Given the description of an element on the screen output the (x, y) to click on. 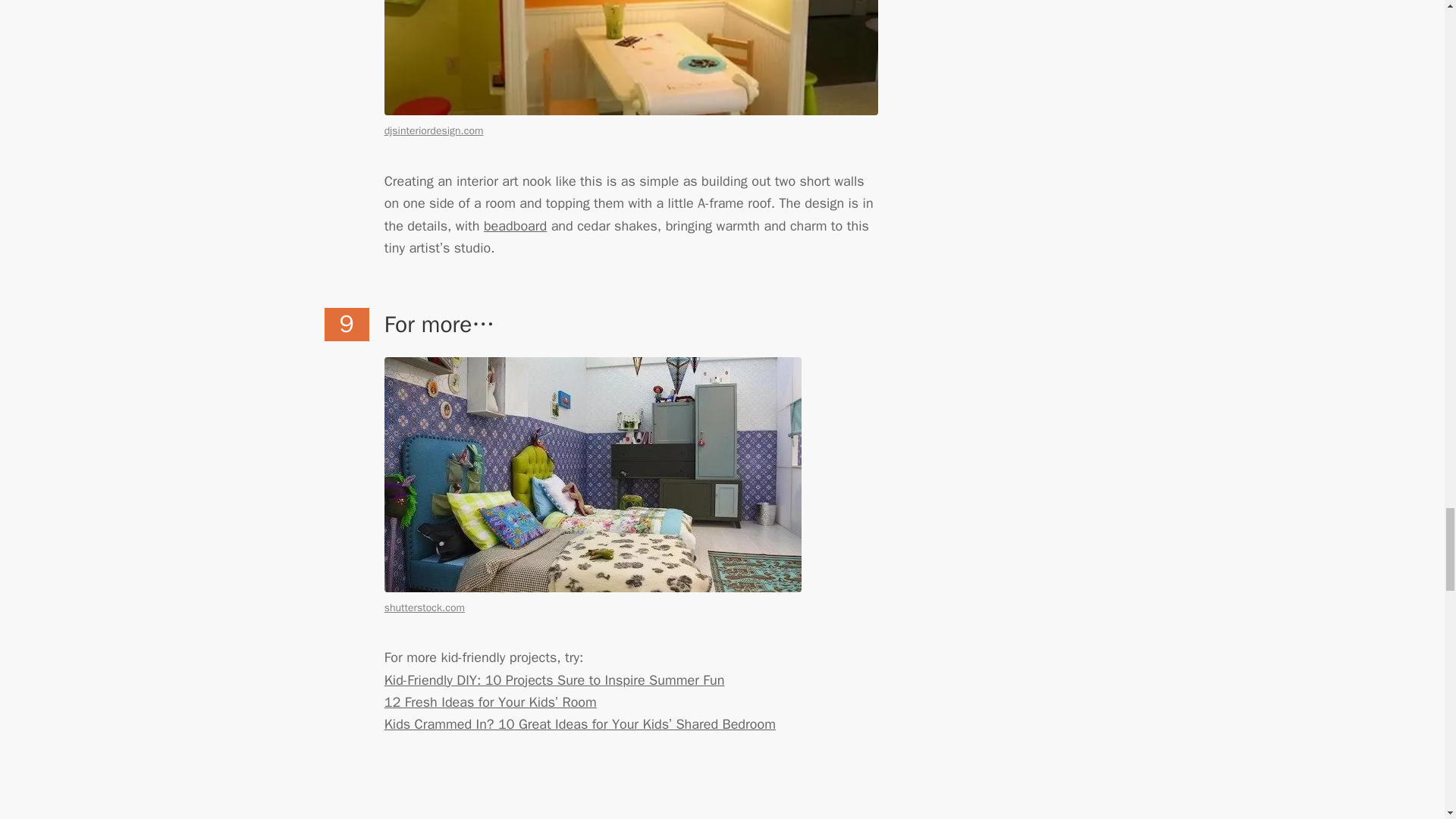
Kid-Friendly DIY: 10 Projects Sure to Inspire Summer Fun (554, 679)
12 Fresh Ideas for Your Kids' Room (490, 701)
